Given the description of an element on the screen output the (x, y) to click on. 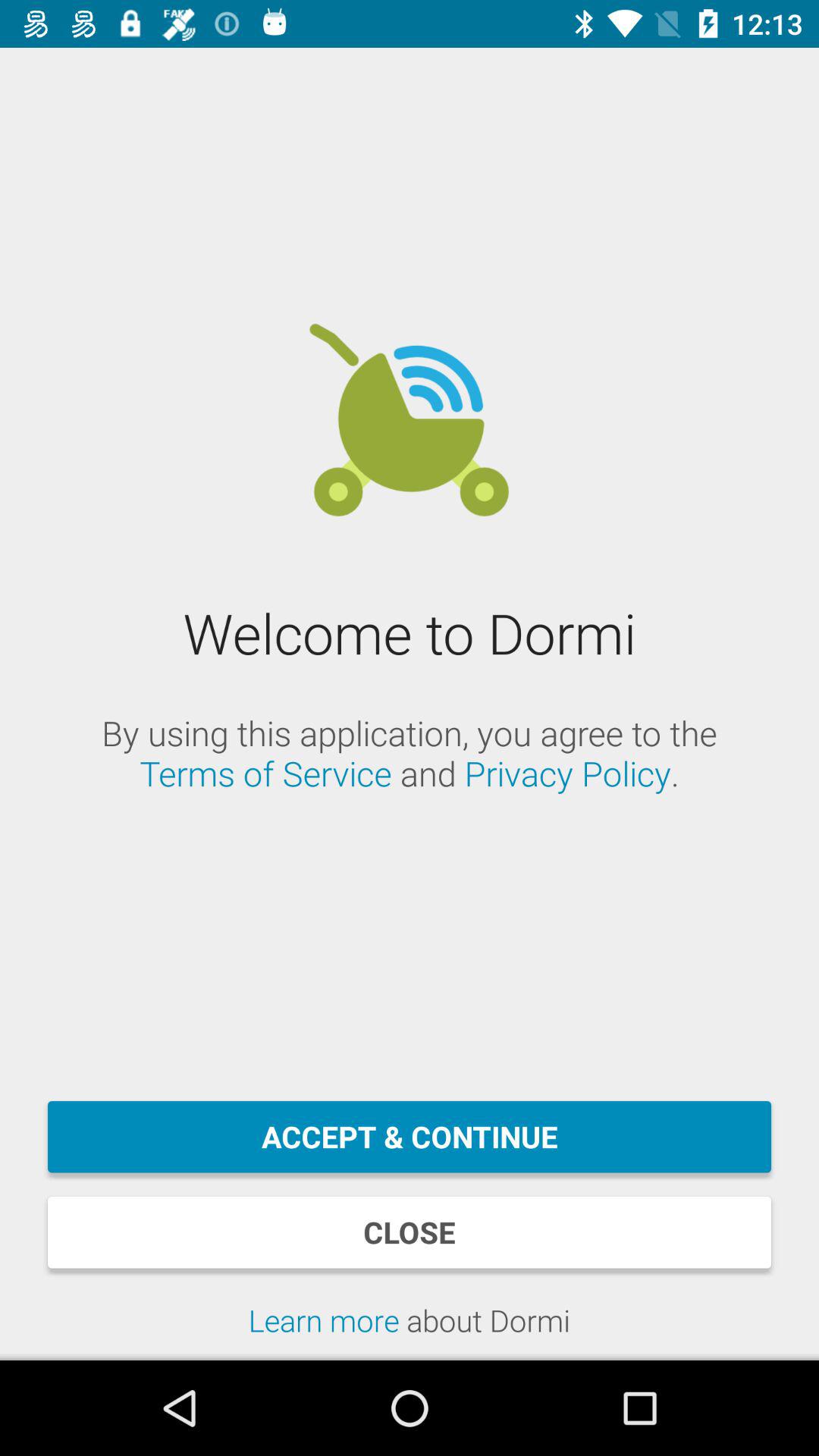
open the learn more about (409, 1330)
